Given the description of an element on the screen output the (x, y) to click on. 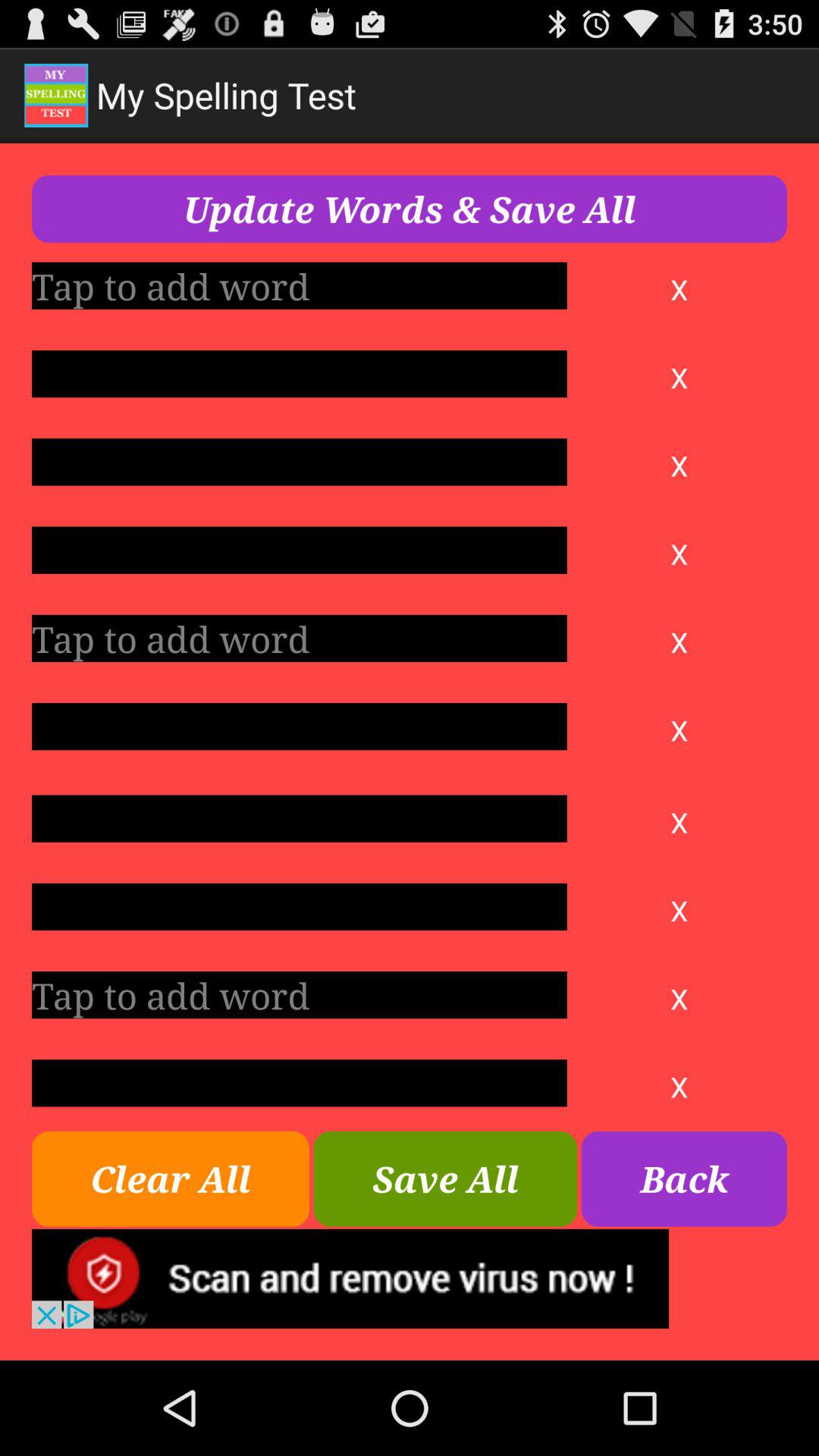
write word (299, 818)
